Given the description of an element on the screen output the (x, y) to click on. 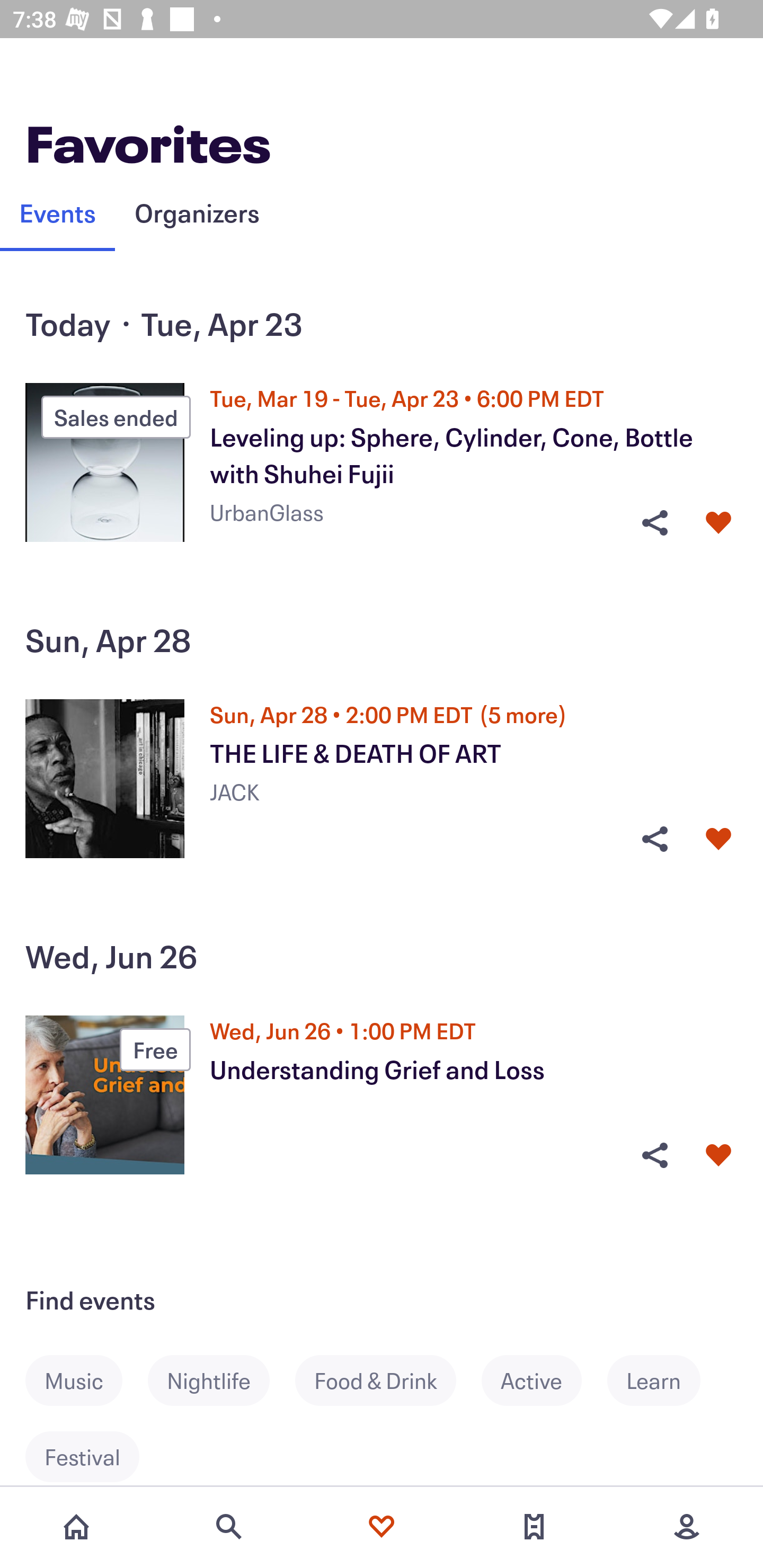
Organizers (196, 212)
Share Event (654, 522)
Unlike event (718, 522)
Share Event (654, 838)
Unlike event (718, 838)
Share Event (654, 1155)
Unlike event (718, 1155)
Music (86, 1380)
Nightlife (221, 1380)
Food & Drink (388, 1380)
Active (544, 1380)
Learn (666, 1380)
Festival (94, 1455)
Home (76, 1526)
Search events (228, 1526)
Favorites (381, 1526)
Tickets (533, 1526)
More (686, 1526)
